Given the description of an element on the screen output the (x, y) to click on. 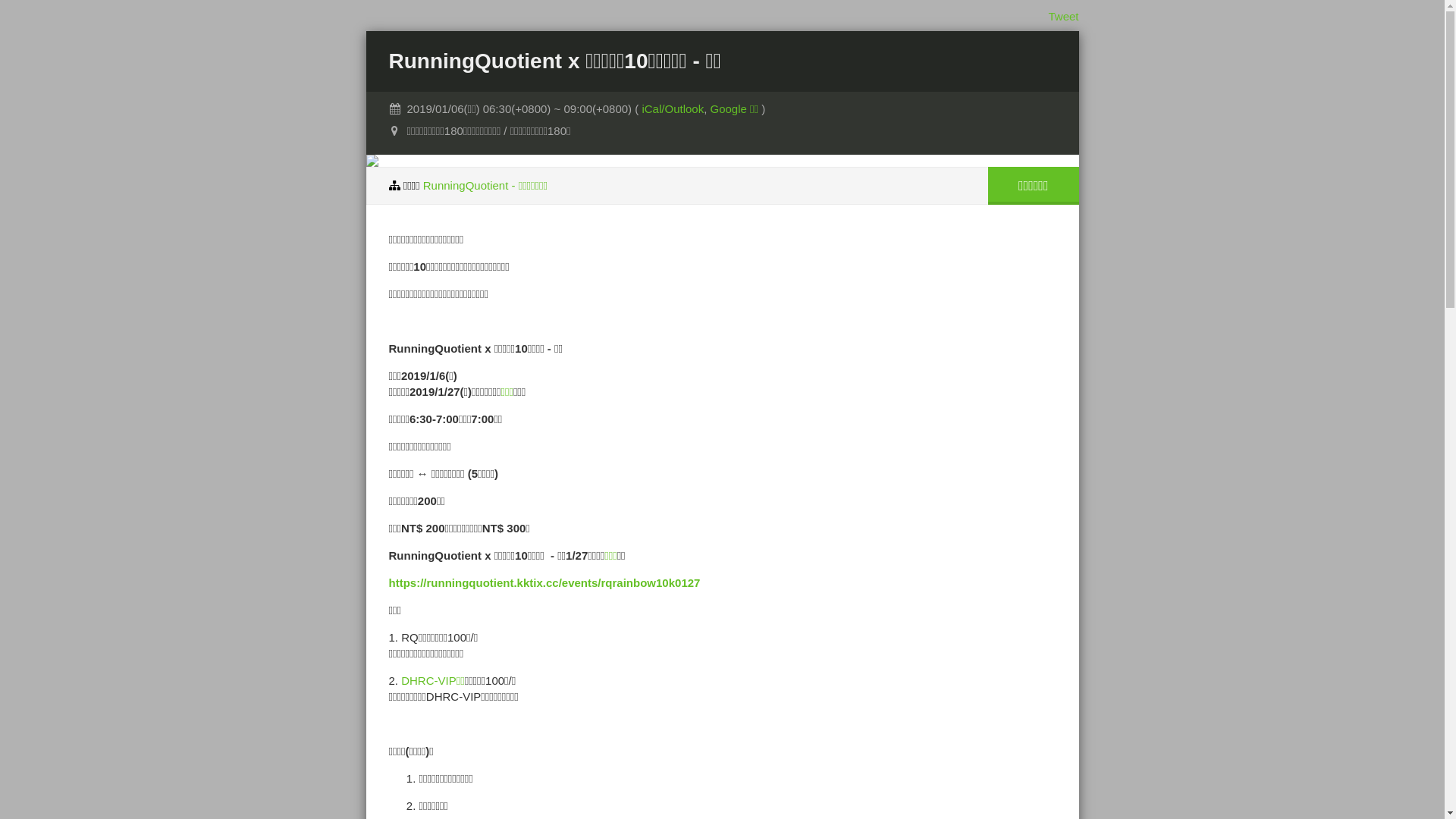
Tweet Element type: text (1063, 15)
iCal/Outlook Element type: text (672, 108)
https://runningquotient.kktix.cc/events/rqrainbow10k0127 Element type: text (543, 582)
